Given the description of an element on the screen output the (x, y) to click on. 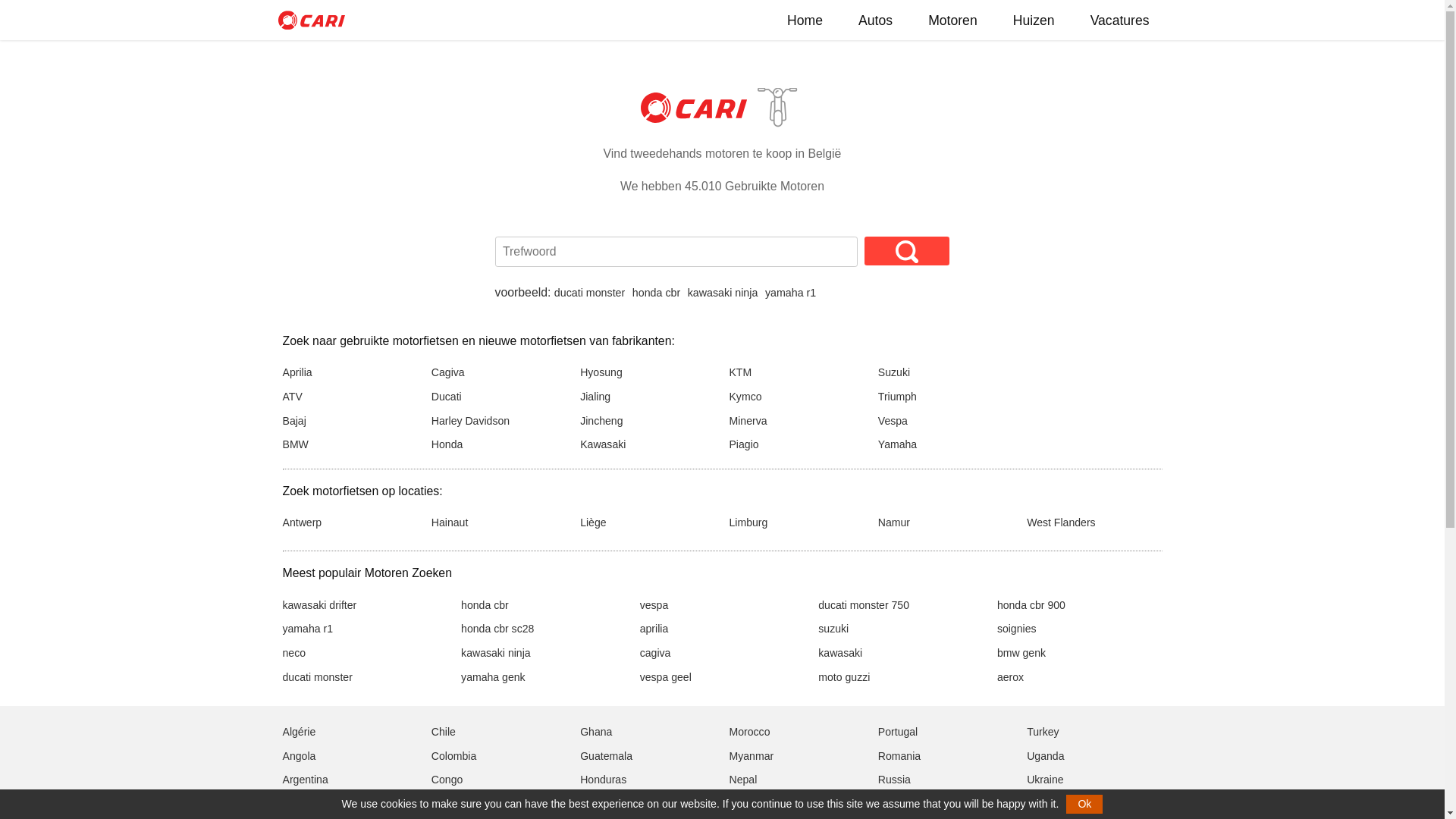
Netherlands Element type: text (757, 803)
Antwerp Element type: text (301, 522)
Triumph Element type: text (897, 396)
Costa Rica Element type: text (457, 803)
Vespa Element type: text (892, 420)
soignies Element type: text (1016, 628)
vespa geel Element type: text (665, 677)
Bajaj Element type: text (293, 420)
kawasaki ninja Element type: text (722, 292)
KTM Element type: text (739, 372)
West Flanders Element type: text (1060, 522)
honda cbr 900 Element type: text (1031, 605)
Hungary Element type: text (600, 803)
Honda Element type: text (447, 444)
aerox Element type: text (1010, 677)
Guatemala Element type: text (606, 755)
Nepal Element type: text (742, 779)
kawasaki Element type: text (840, 652)
ducati monster Element type: text (589, 292)
Motoren Element type: text (952, 20)
Ghana Element type: text (595, 731)
honda cbr Element type: text (484, 605)
Suzuki Element type: text (894, 372)
kawasaki drifter Element type: text (319, 605)
Huizen Element type: text (1033, 20)
honda cbr sc28 Element type: text (497, 628)
Ducati Element type: text (446, 396)
Vacatures Element type: text (1119, 20)
Morocco Element type: text (748, 731)
Colombia Element type: text (453, 755)
Honduras Element type: text (603, 779)
BMW Element type: text (294, 444)
Congo Element type: text (447, 779)
Hyosung Element type: text (601, 372)
Limburg Element type: text (747, 522)
moto guzzi Element type: text (843, 677)
Turkey Element type: text (1042, 731)
aprilia Element type: text (654, 628)
Hainaut Element type: text (449, 522)
Ok Element type: text (1084, 803)
Angola Element type: text (298, 755)
Ukraine Element type: text (1044, 779)
Rwanda Element type: text (897, 803)
United Arab Emirates Element type: text (1076, 803)
yamaha r1 Element type: text (790, 292)
Yamaha Element type: text (897, 444)
ducati monster 750 Element type: text (863, 605)
Kymco Element type: text (744, 396)
Romania Element type: text (899, 755)
Australia Element type: text (302, 803)
cagiva Element type: text (655, 652)
yamaha r1 Element type: text (307, 628)
honda cbr Element type: text (656, 292)
Russia Element type: text (894, 779)
suzuki Element type: text (833, 628)
Aprilia Element type: text (296, 372)
Chile Element type: text (443, 731)
kawasaki ninja Element type: text (495, 652)
Piagio Element type: text (743, 444)
Harley Davidson Element type: text (470, 420)
Jincheng Element type: text (601, 420)
yamaha genk Element type: text (493, 677)
Namur Element type: text (894, 522)
Jialing Element type: text (595, 396)
bmw genk Element type: text (1021, 652)
Uganda Element type: text (1044, 755)
Minerva Element type: text (747, 420)
ATV Element type: text (291, 396)
Home Element type: text (804, 20)
Kawasaki Element type: text (602, 444)
Autos Element type: text (875, 20)
Argentina Element type: text (304, 779)
Myanmar Element type: text (750, 755)
vespa Element type: text (654, 605)
ducati monster Element type: text (316, 677)
Cagiva Element type: text (447, 372)
neco Element type: text (293, 652)
Portugal Element type: text (897, 731)
